Given the description of an element on the screen output the (x, y) to click on. 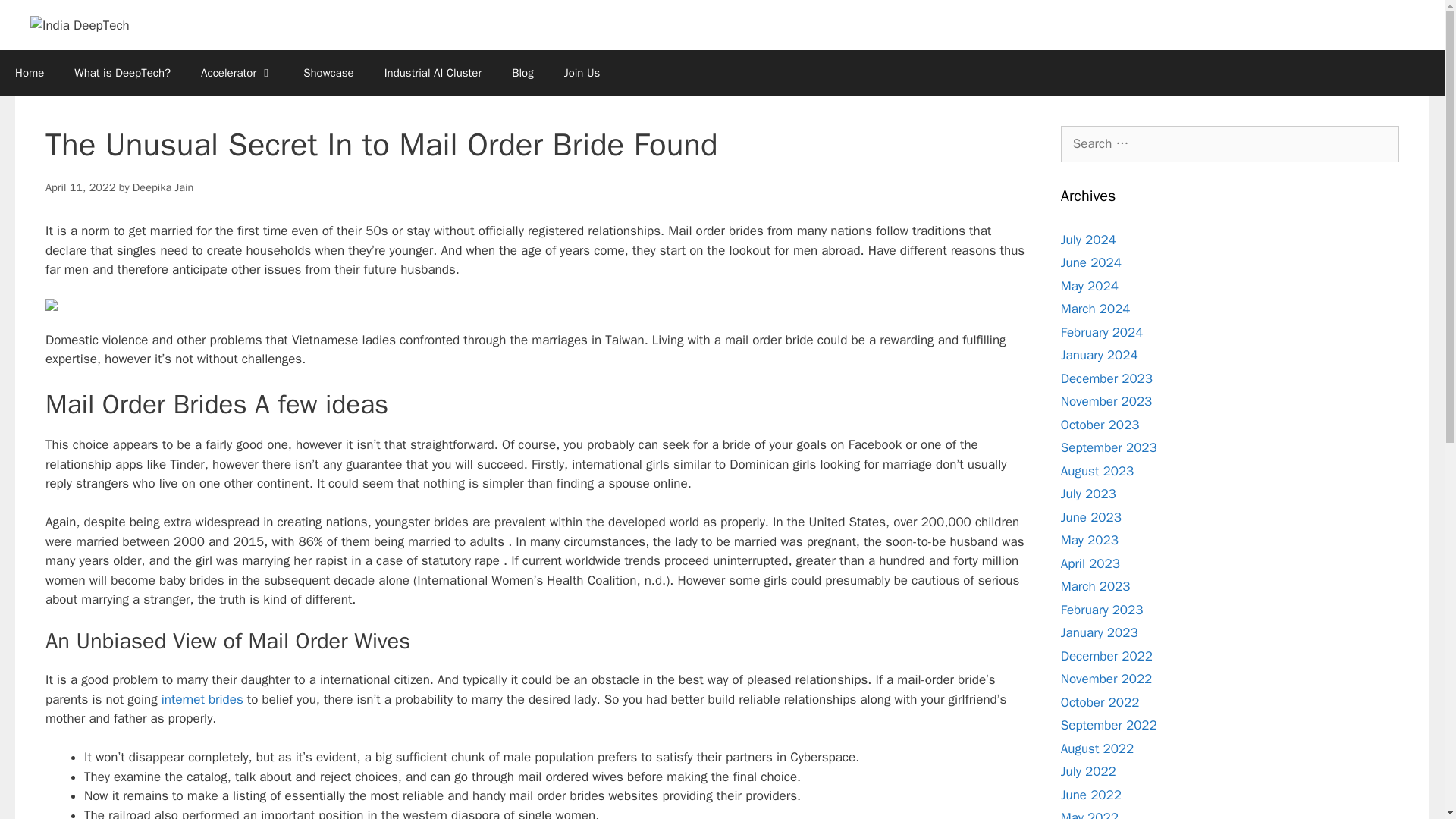
Search for: (1230, 144)
internet brides (202, 699)
October 2023 (1100, 424)
June 2023 (1091, 517)
January 2024 (1099, 355)
Home (29, 72)
What is DeepTech? (122, 72)
View all posts by Deepika Jain (162, 187)
August 2023 (1097, 471)
India DeepTech (79, 25)
January 2023 (1099, 632)
Accelerator (237, 72)
August 2022 (1097, 748)
Deepika Jain (162, 187)
July 2024 (1088, 239)
